Given the description of an element on the screen output the (x, y) to click on. 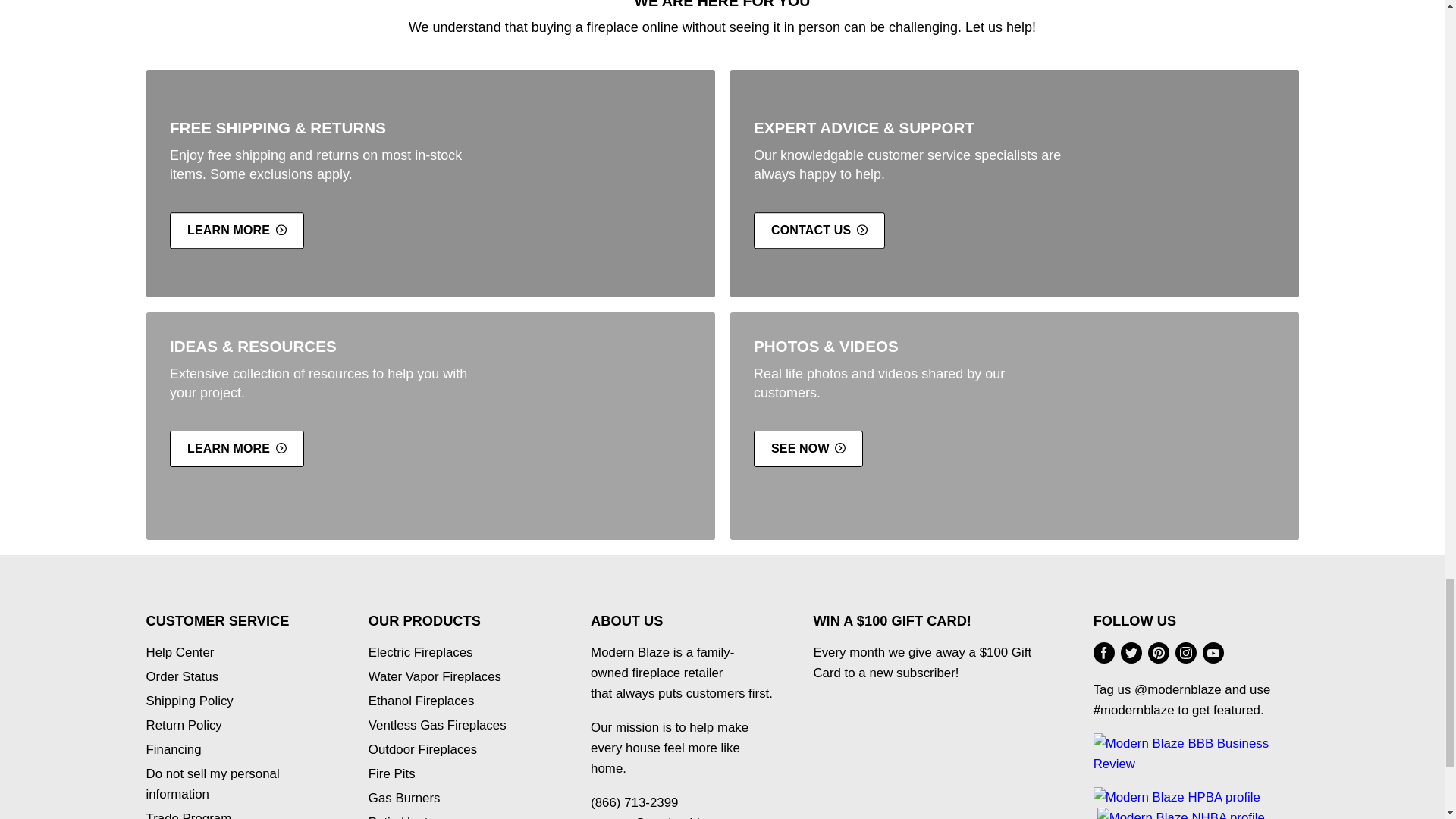
Facebook (1104, 652)
Twitter (1131, 652)
YouTube (1213, 652)
Instagram (1185, 652)
Pinterest (1158, 652)
